Given the description of an element on the screen output the (x, y) to click on. 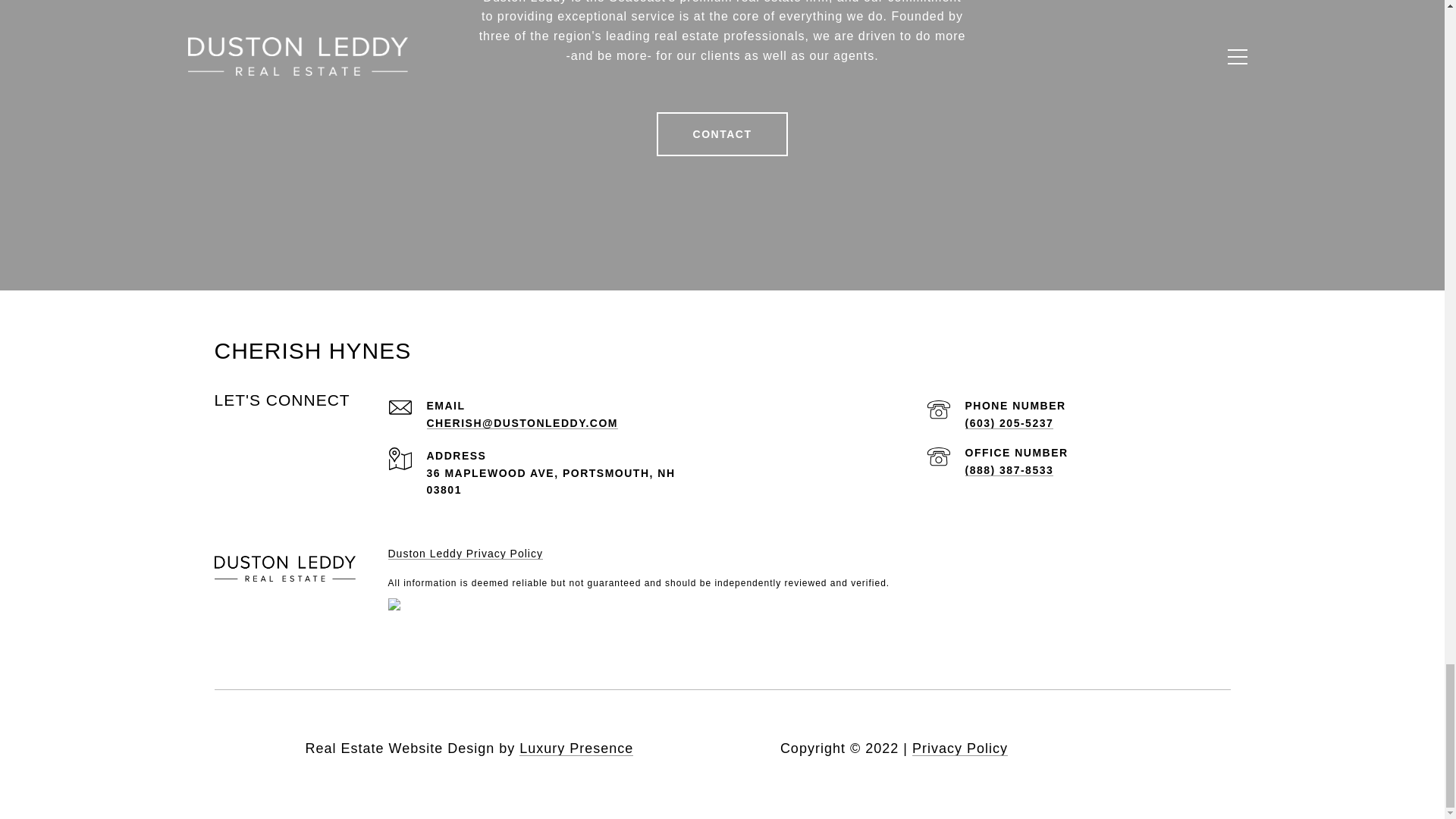
Luxury Presence (576, 748)
Privacy Policy (959, 748)
Duston Leddy Privacy Policy (465, 553)
CONTACT (722, 134)
